Given the description of an element on the screen output the (x, y) to click on. 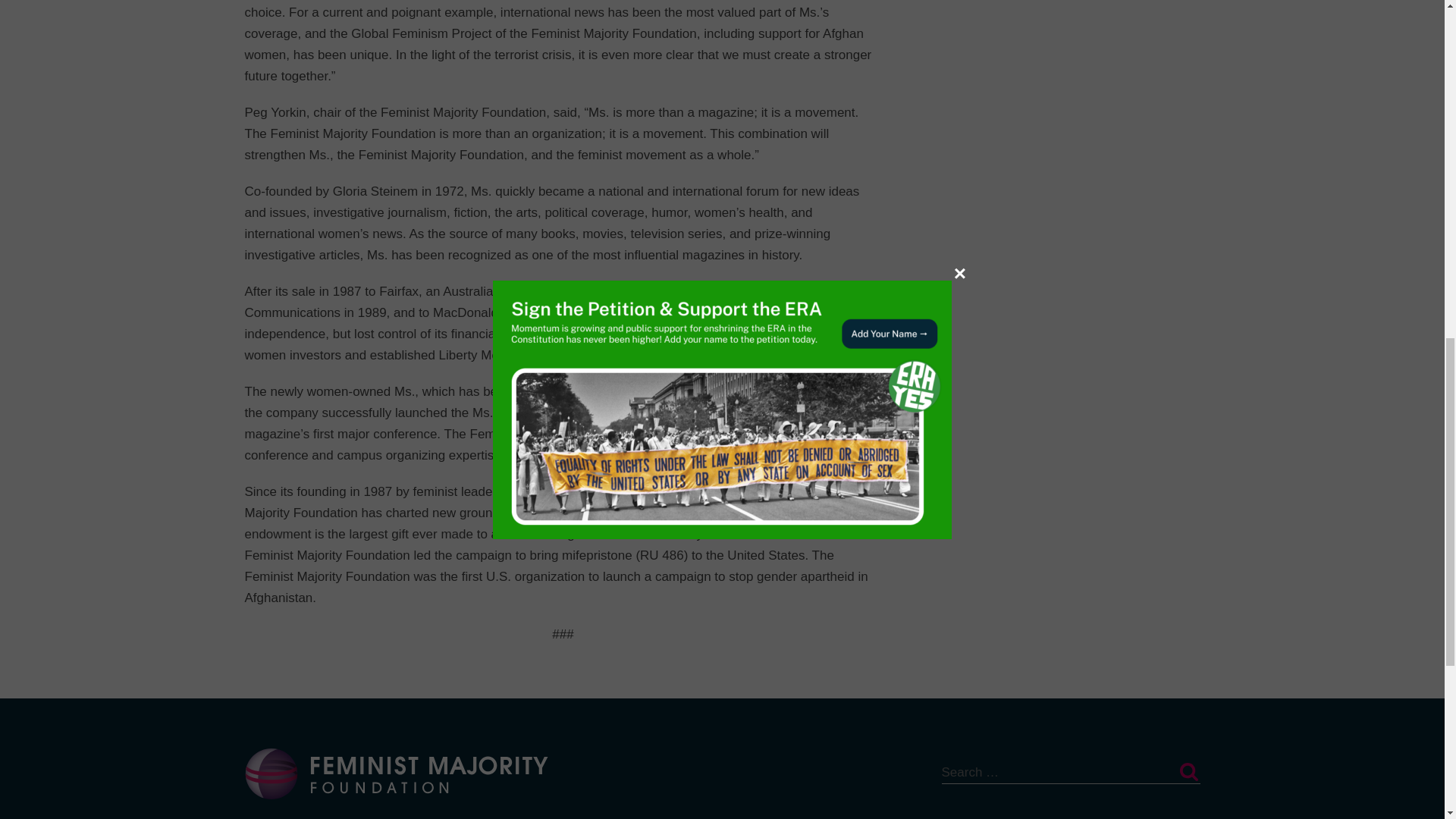
Search (1187, 771)
Search (1187, 771)
Search (1187, 771)
